Given the description of an element on the screen output the (x, y) to click on. 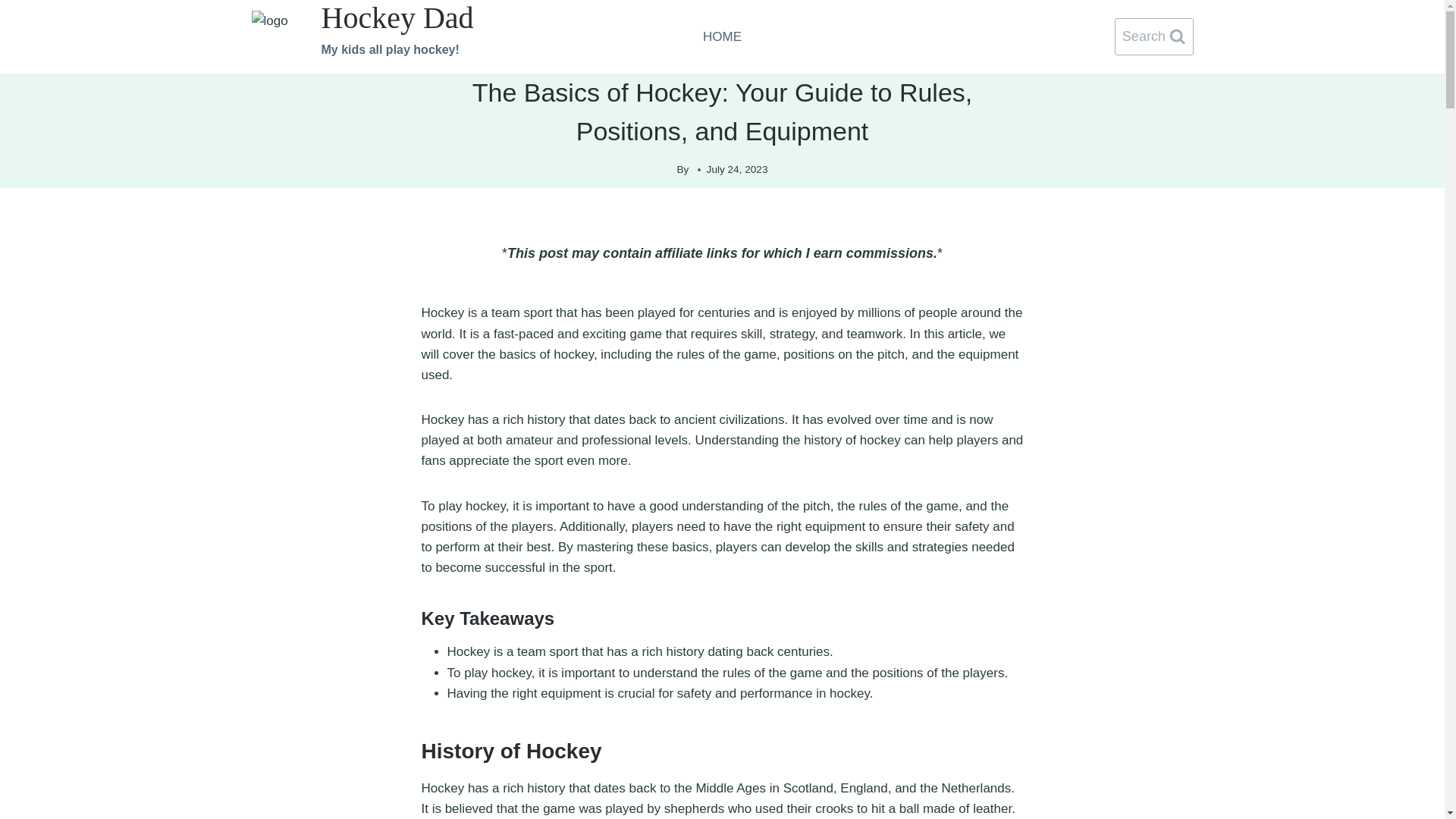
HOME (722, 36)
Search (1154, 36)
